Given the description of an element on the screen output the (x, y) to click on. 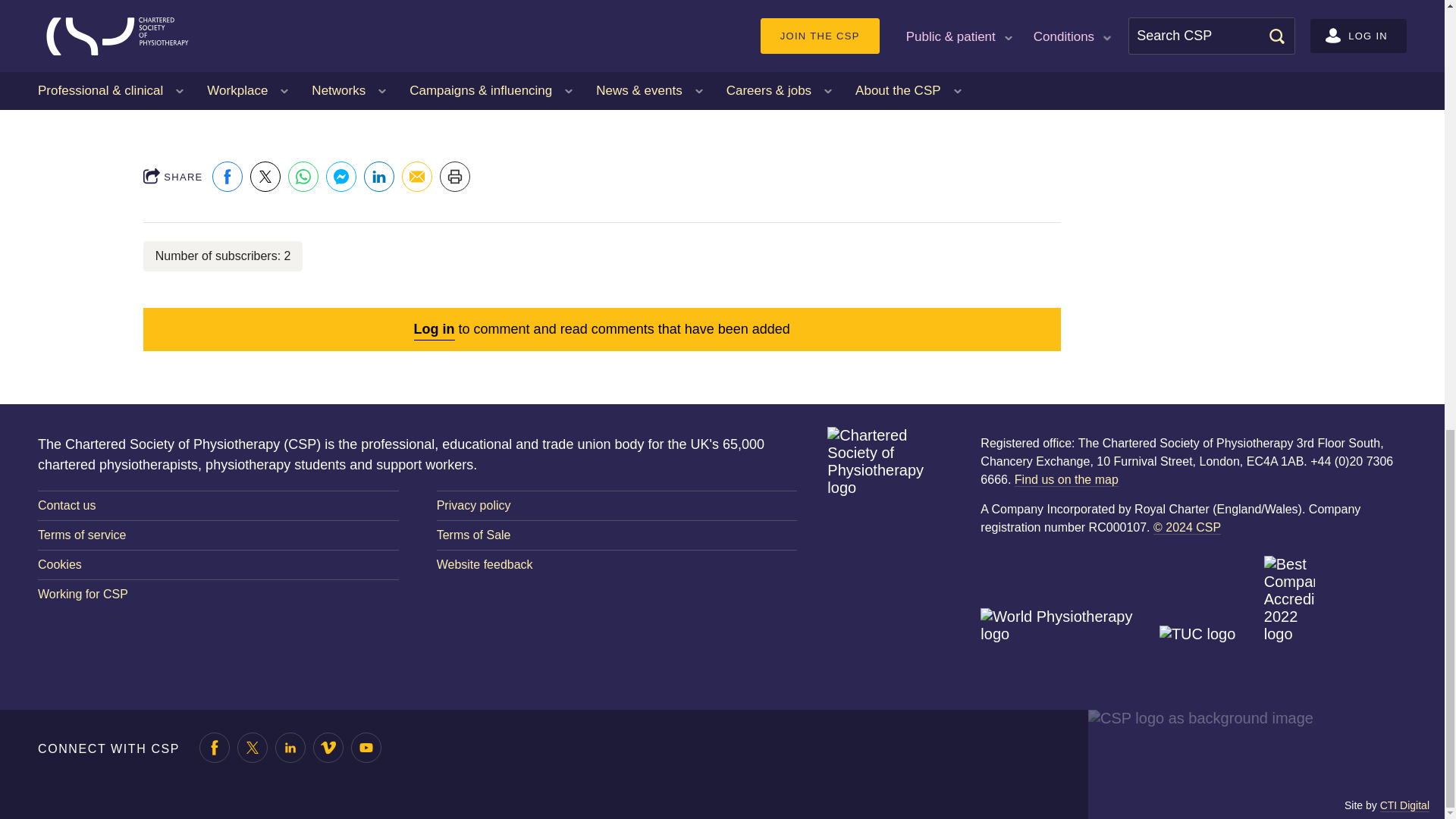
Email (416, 176)
World Physiotherapy (1066, 642)
The CSP-wide privacy policy (616, 505)
Linkedin (379, 176)
WhatsApp (303, 176)
Facebook messenger (341, 176)
Webform for contacting the CSP. (217, 505)
Facebook (227, 176)
